Given the description of an element on the screen output the (x, y) to click on. 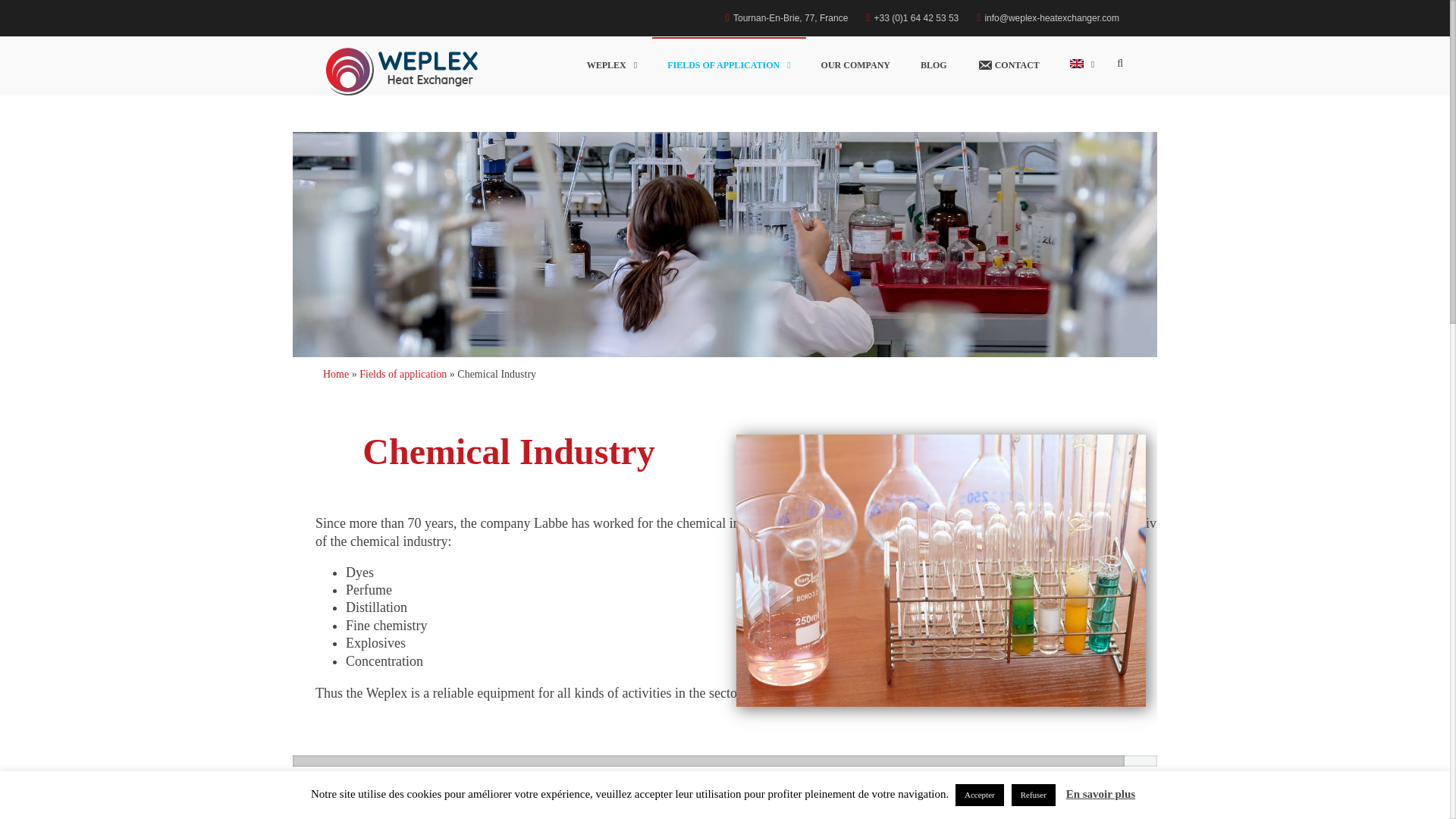
WEPLEX (612, 65)
OUR COMPANY (855, 65)
Download our catalogue (724, 804)
Search (1078, 145)
Fields of application (402, 374)
FIELDS OF APPLICATION (728, 65)
BLOG (933, 65)
CONTACT (1008, 65)
Home (336, 374)
